Given the description of an element on the screen output the (x, y) to click on. 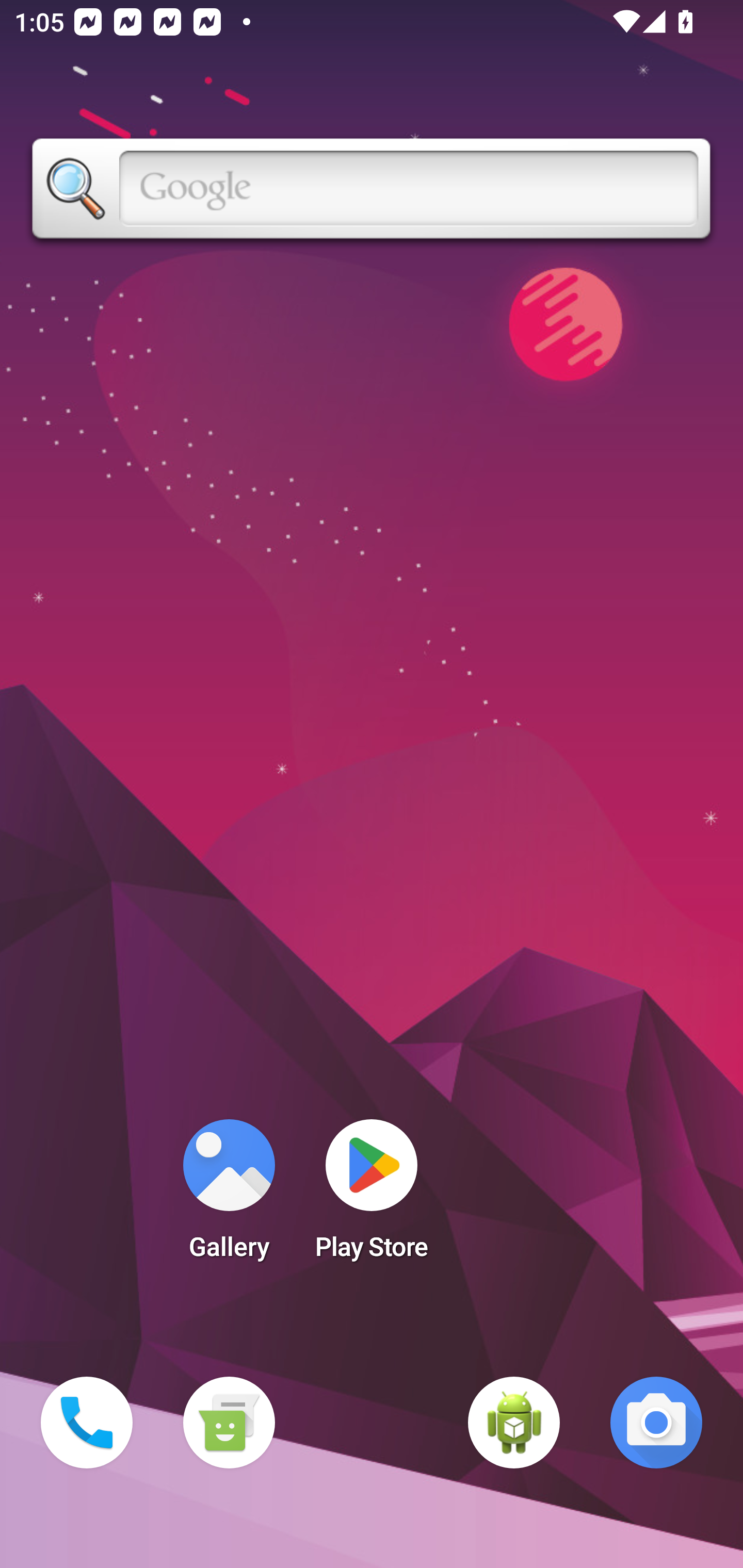
Gallery (228, 1195)
Play Store (371, 1195)
Phone (86, 1422)
Messaging (228, 1422)
WebView Browser Tester (513, 1422)
Camera (656, 1422)
